Given the description of an element on the screen output the (x, y) to click on. 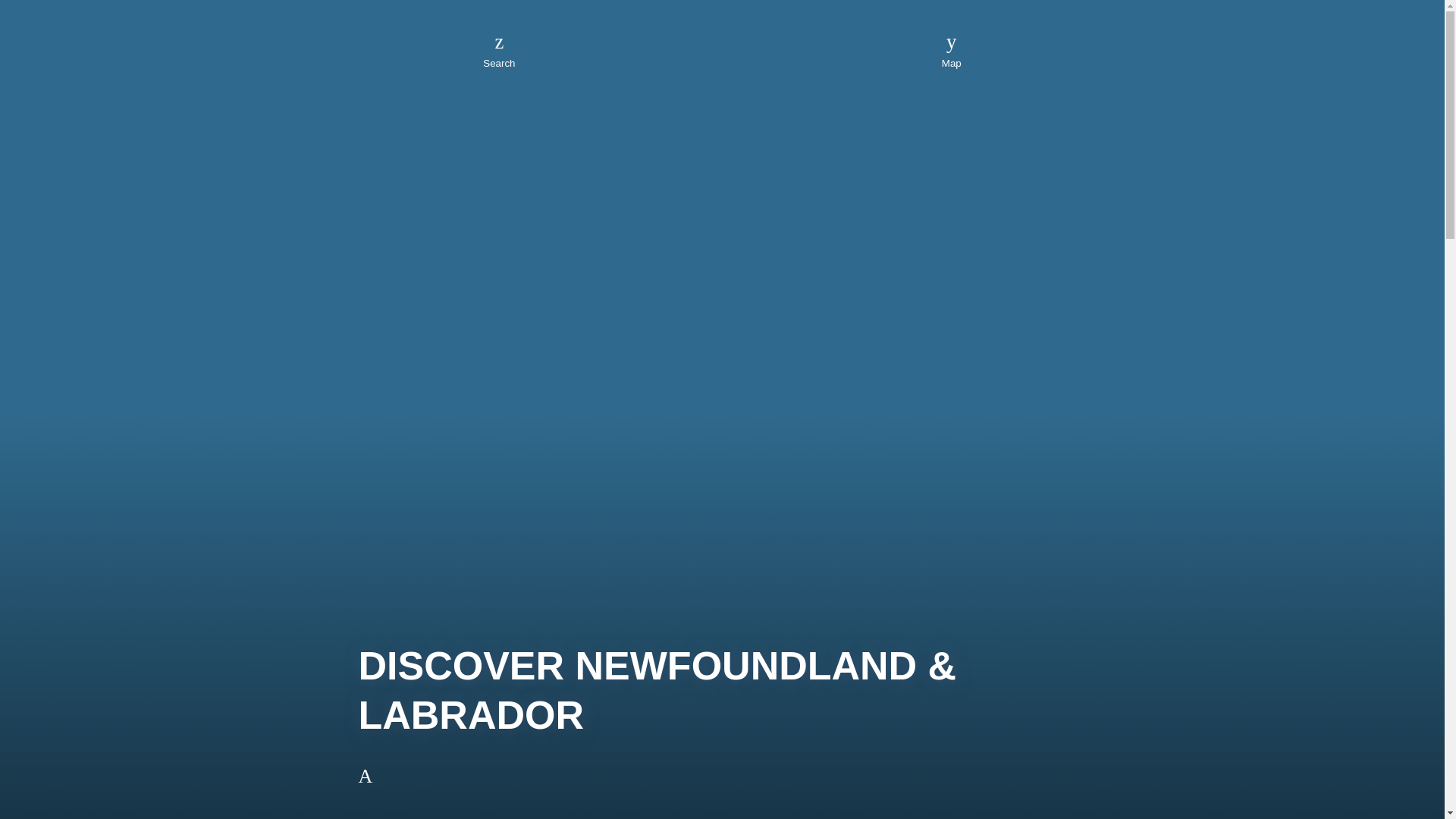
Newfoundland and Labrador, Canada (722, 42)
